Given the description of an element on the screen output the (x, y) to click on. 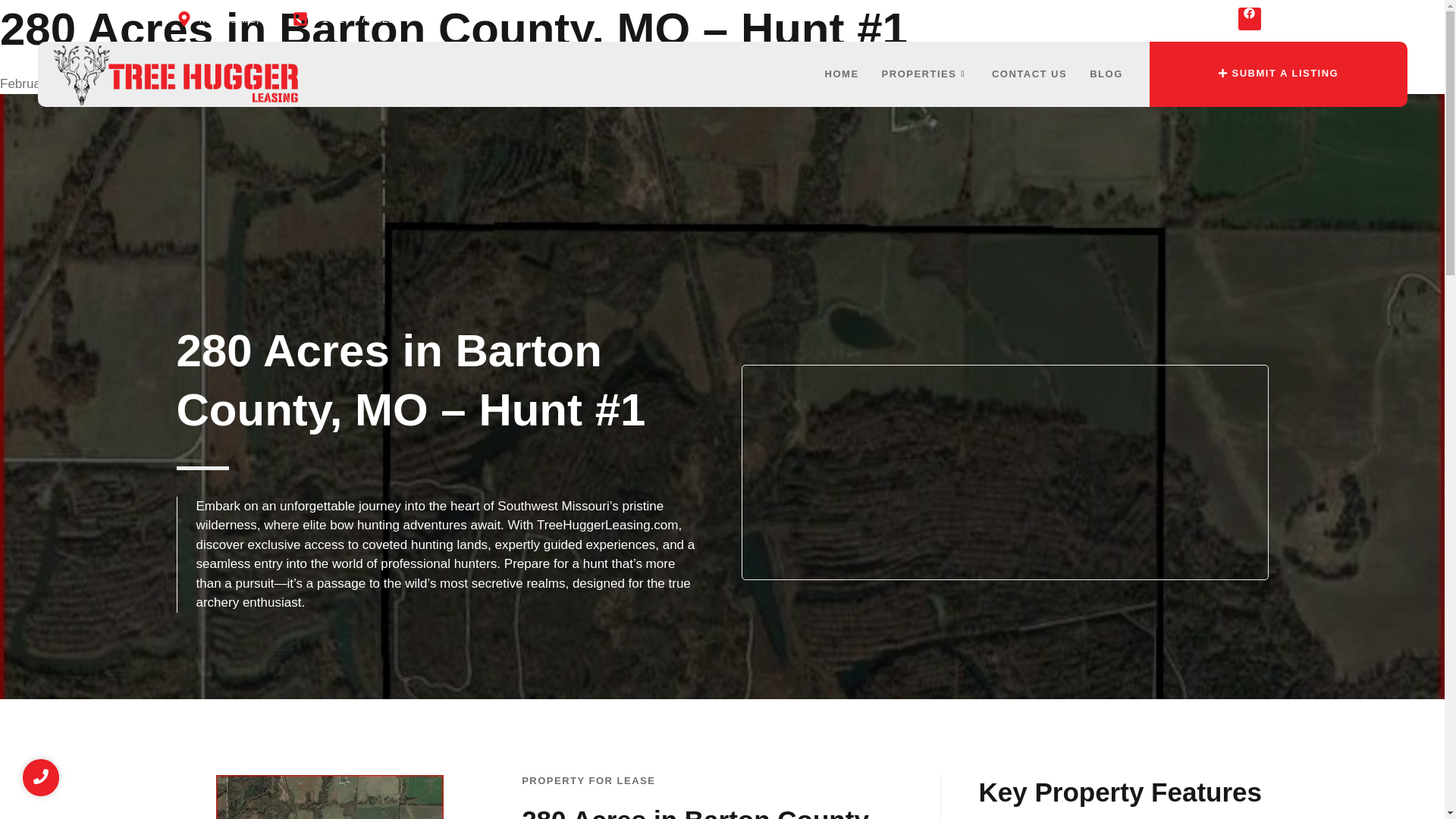
SUBMIT A LISTING (1278, 74)
PROPERTIES (924, 73)
CONTACT US (1028, 73)
